Given the description of an element on the screen output the (x, y) to click on. 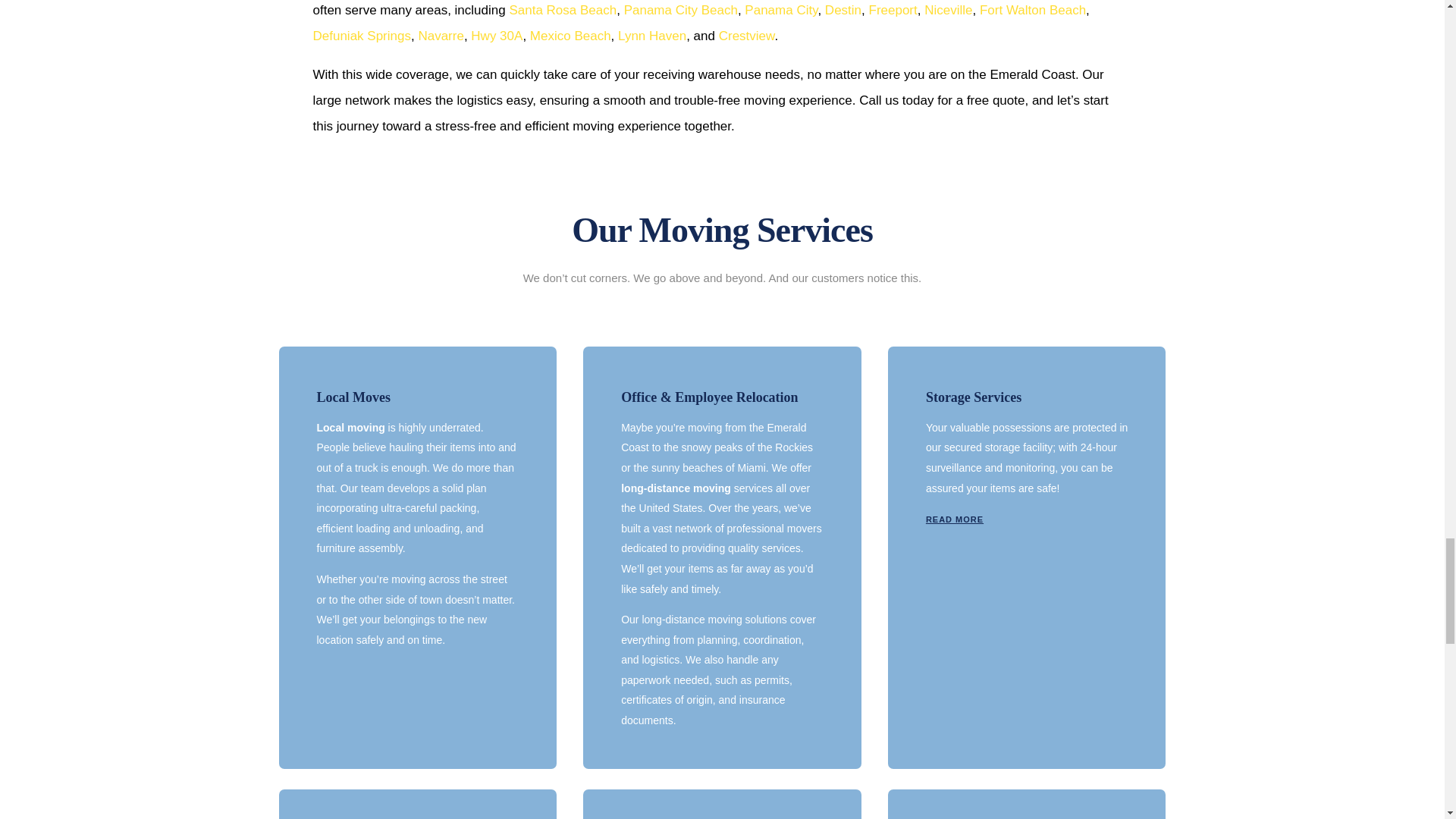
Destin (843, 10)
Santa Rosa Beach (561, 10)
Panama City Beach (681, 10)
Panama City (780, 10)
